Given the description of an element on the screen output the (x, y) to click on. 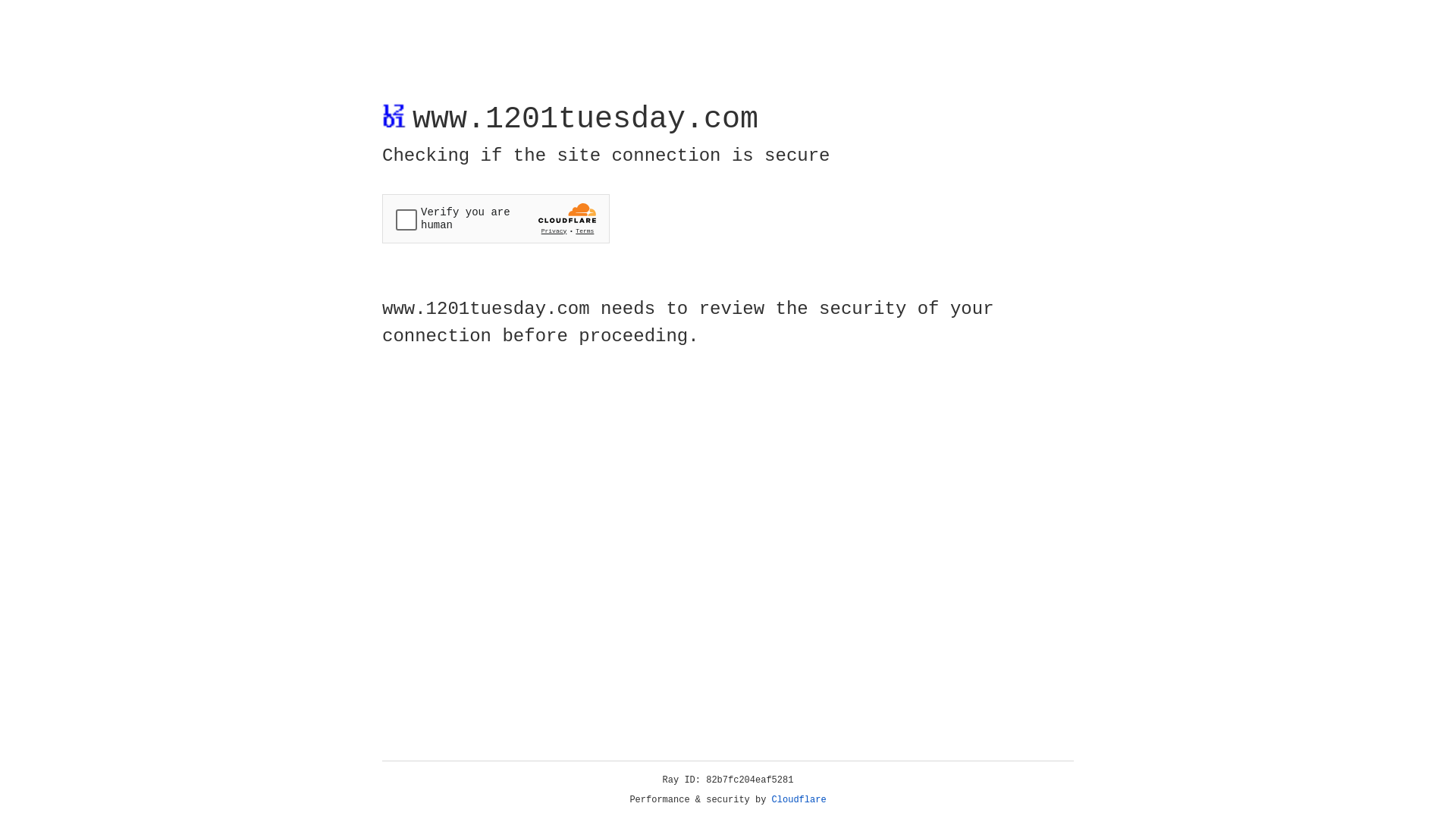
Widget containing a Cloudflare security challenge Element type: hover (495, 218)
Cloudflare Element type: text (798, 799)
